Given the description of an element on the screen output the (x, y) to click on. 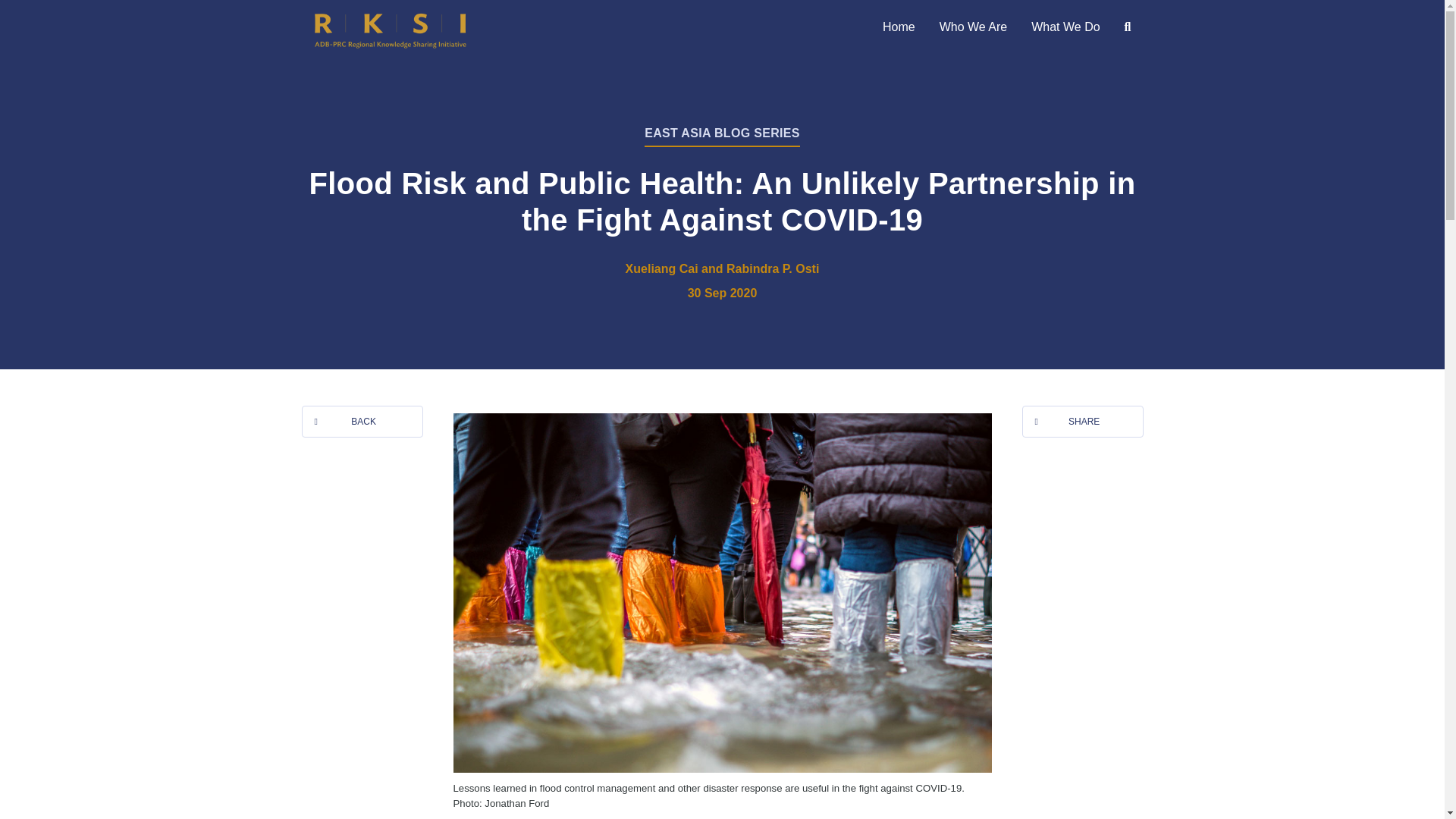
Who We Are (973, 27)
What We Do (1065, 27)
Home (898, 27)
